Given the description of an element on the screen output the (x, y) to click on. 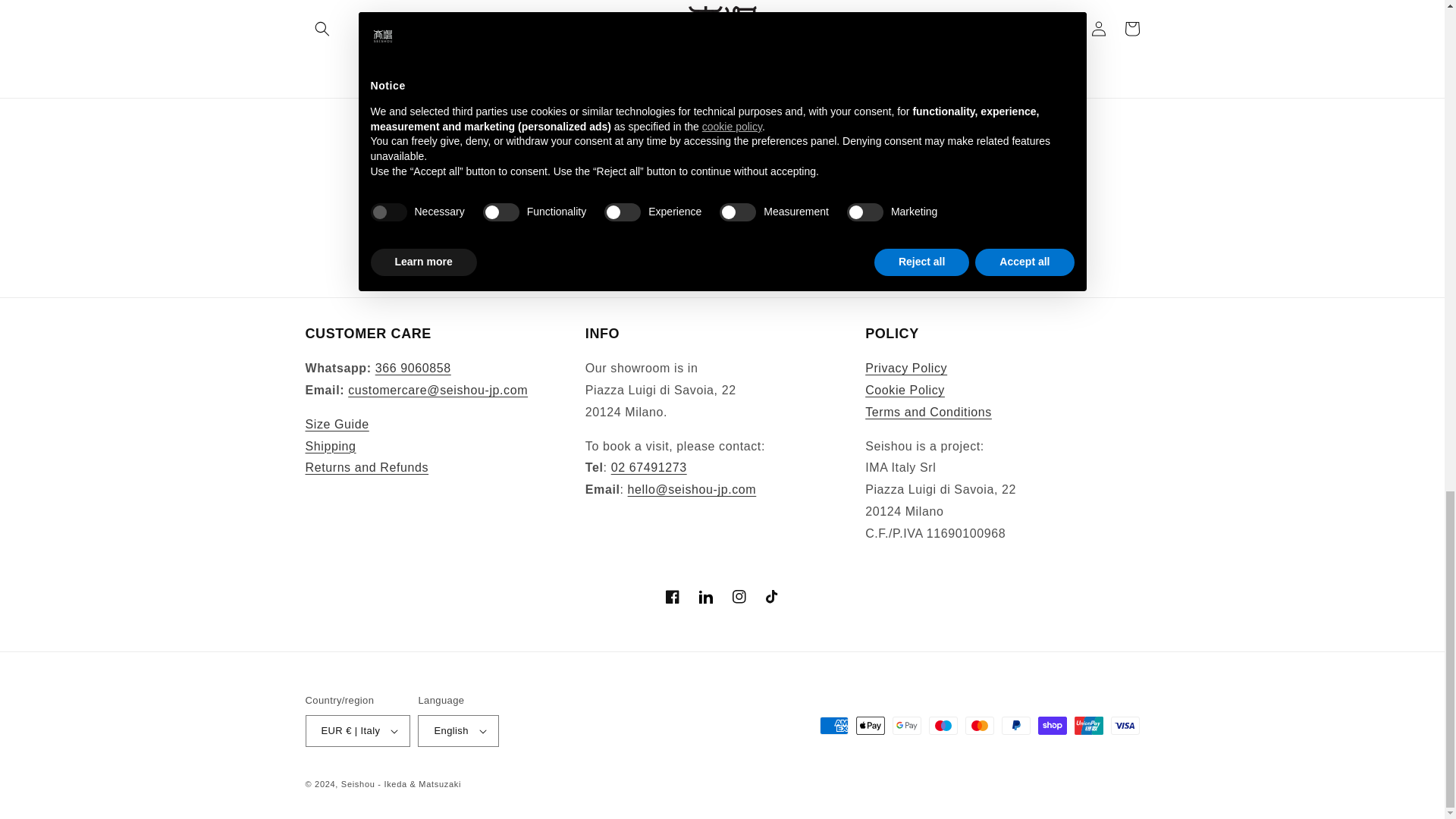
Returns and exchanges (366, 467)
366 9060858 (413, 367)
Size Guide (336, 423)
Shipping (329, 445)
Size Guide Seishou (336, 423)
